Given the description of an element on the screen output the (x, y) to click on. 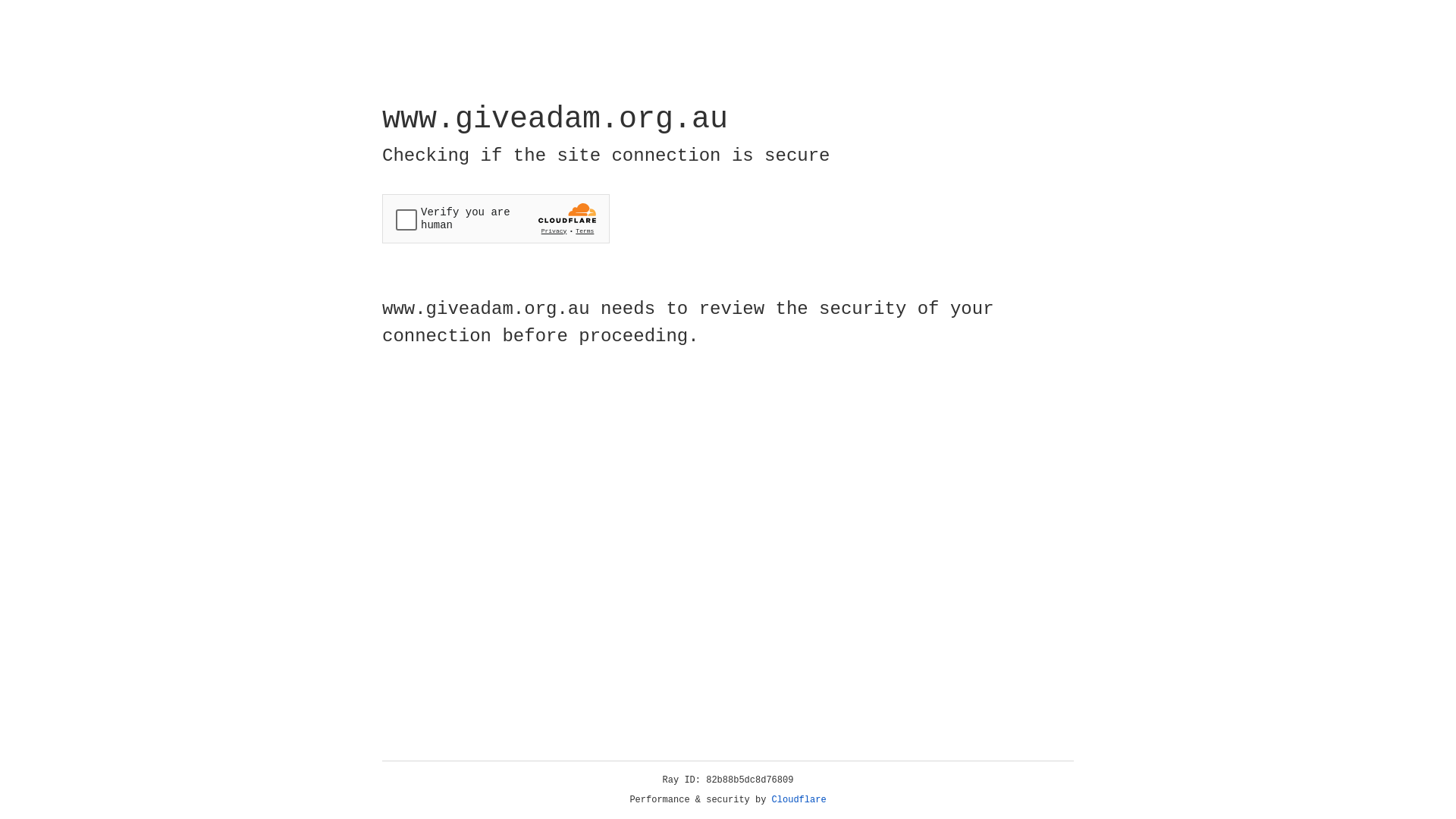
Widget containing a Cloudflare security challenge Element type: hover (495, 218)
Cloudflare Element type: text (798, 799)
